Given the description of an element on the screen output the (x, y) to click on. 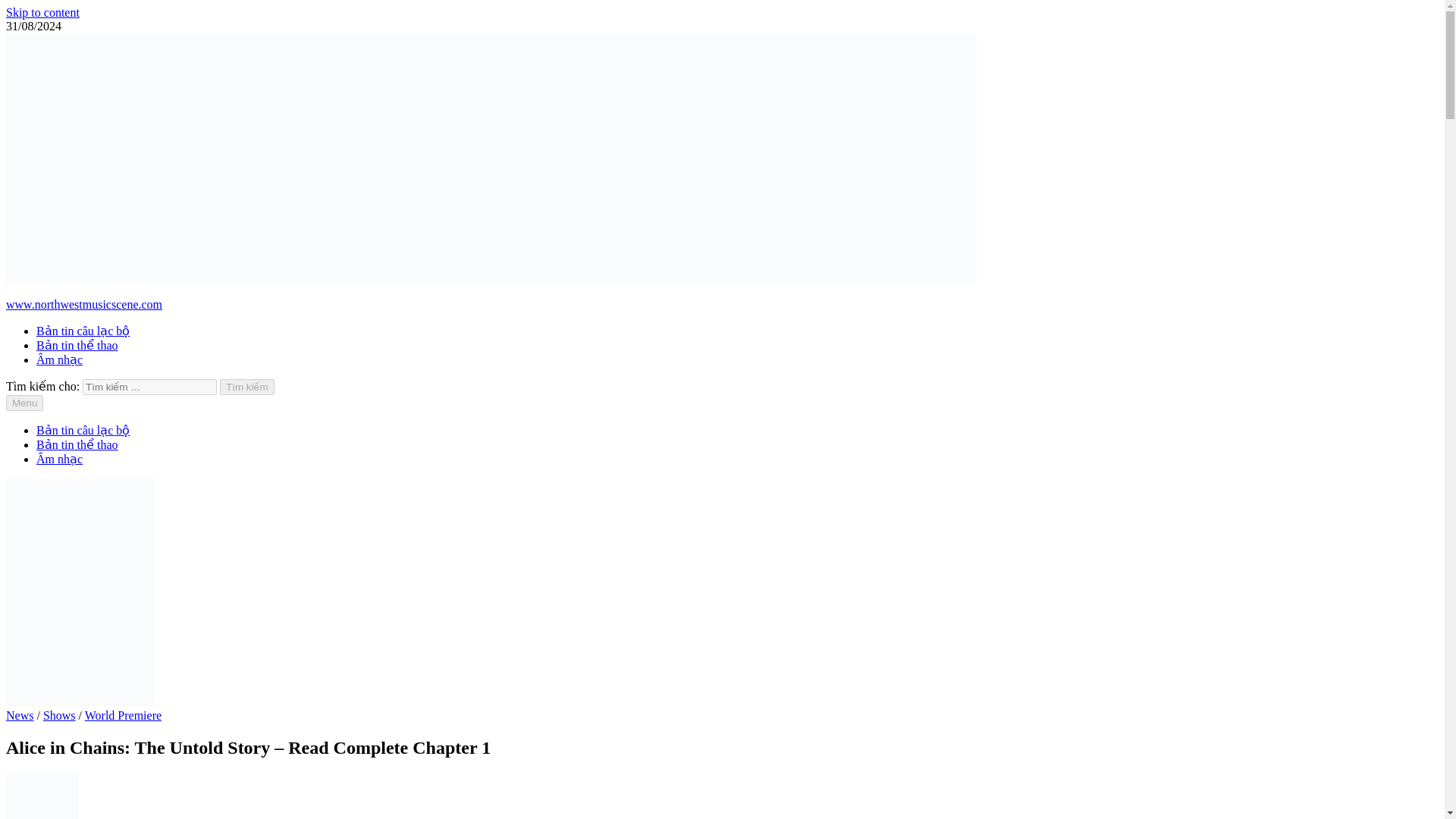
News (19, 715)
www.northwestmusicscene.com (83, 304)
World Premiere (122, 715)
Shows (59, 715)
Menu (24, 402)
Skip to content (42, 11)
